Given the description of an element on the screen output the (x, y) to click on. 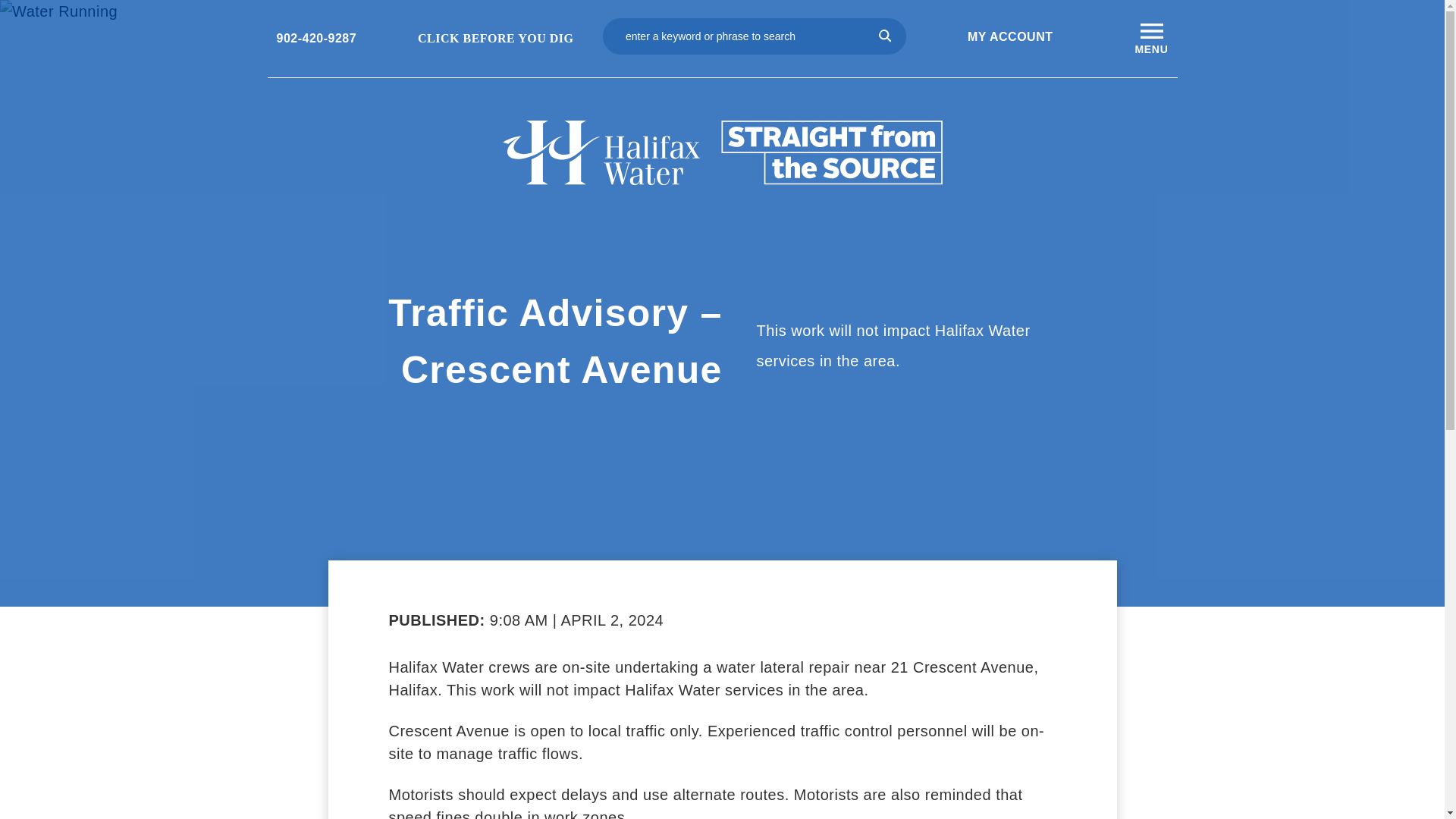
Mobile Main navigation (1150, 30)
902-420-9287 (316, 38)
Search (885, 36)
MY ACCOUNT (1010, 36)
CLICK BEFORE YOU DIG (486, 38)
Search (885, 36)
Skip to main content (624, 4)
